Given the description of an element on the screen output the (x, y) to click on. 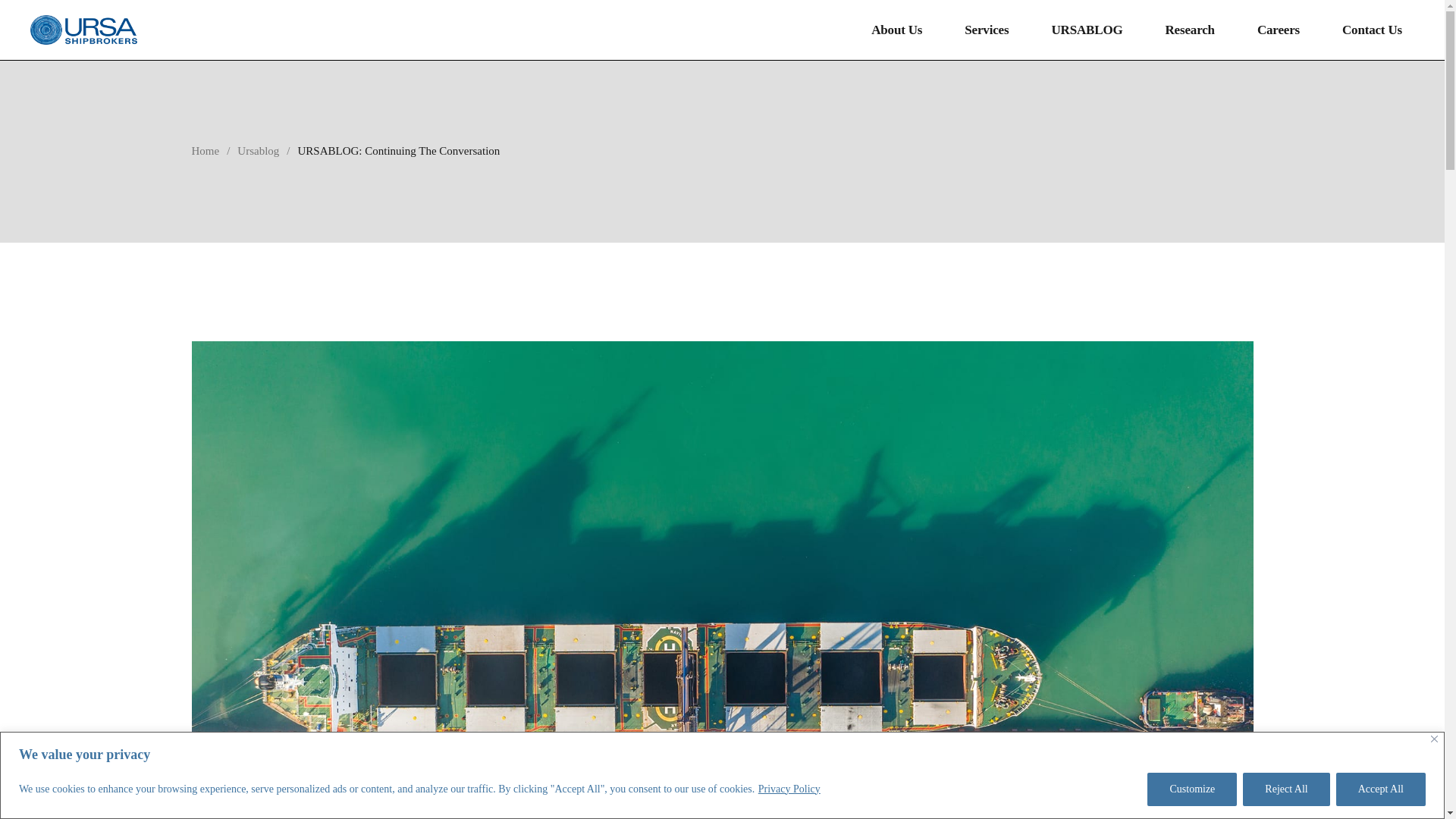
Privacy Policy (789, 788)
URSABLOG (1086, 29)
Reject All (1286, 788)
Contact Us (1372, 29)
Accept All (1380, 788)
Customize (1191, 788)
